Given the description of an element on the screen output the (x, y) to click on. 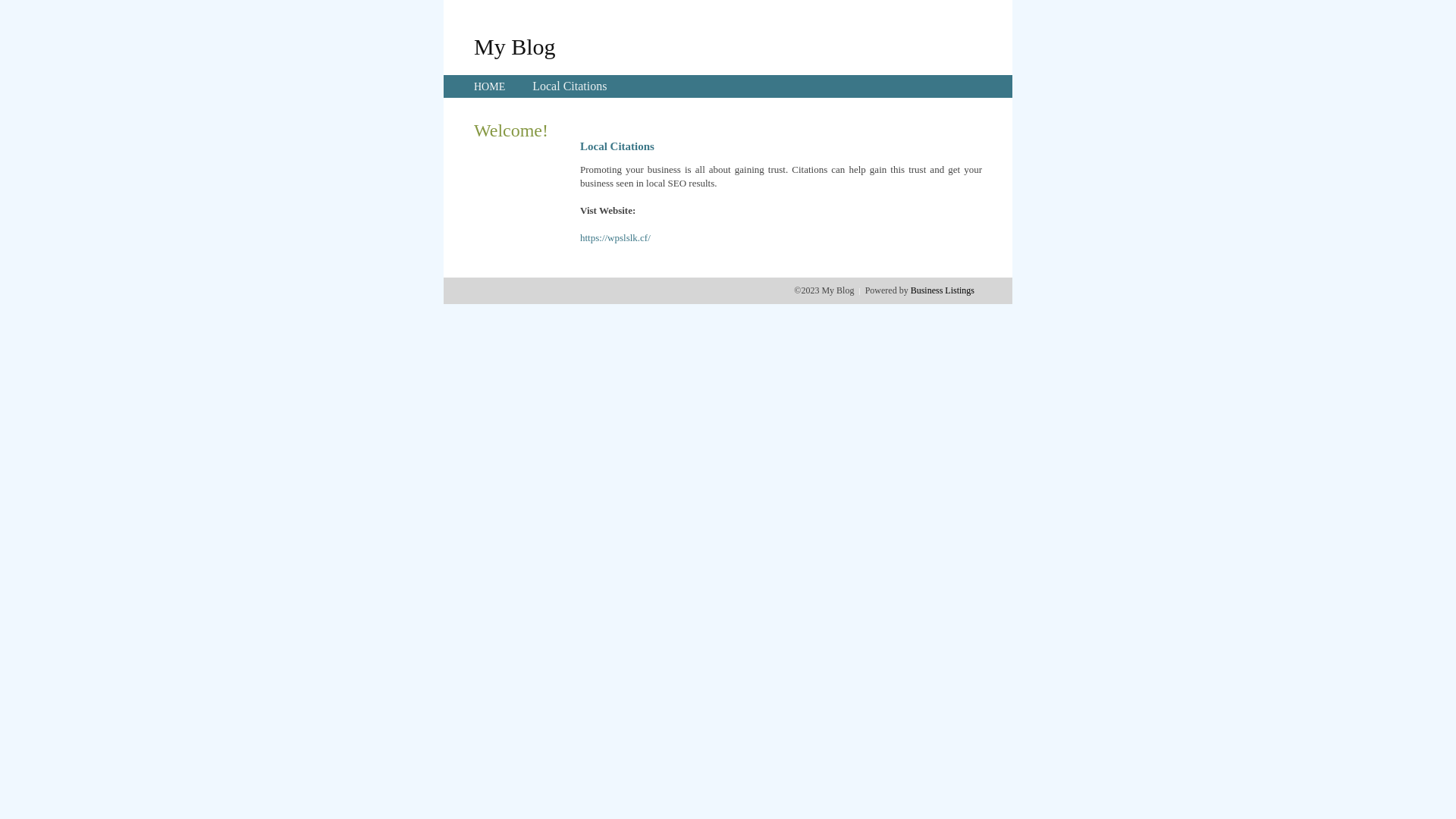
Business Listings Element type: text (942, 290)
HOME Element type: text (489, 86)
My Blog Element type: text (514, 46)
Local Citations Element type: text (569, 85)
https://wpslslk.cf/ Element type: text (615, 237)
